Given the description of an element on the screen output the (x, y) to click on. 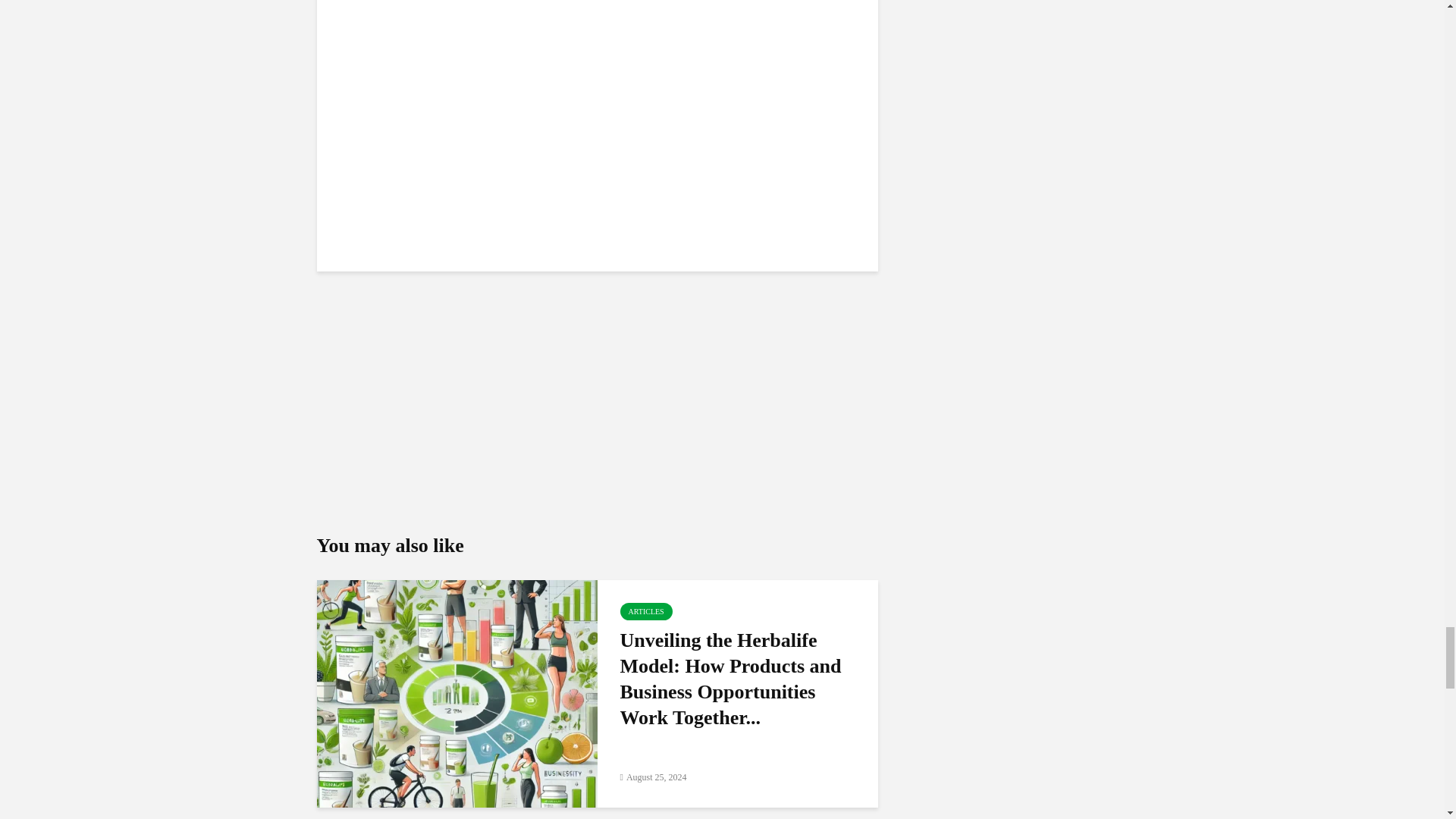
ARTICLES (646, 610)
Become a Preferred Member (597, 400)
Business Opportunity (597, 114)
